Given the description of an element on the screen output the (x, y) to click on. 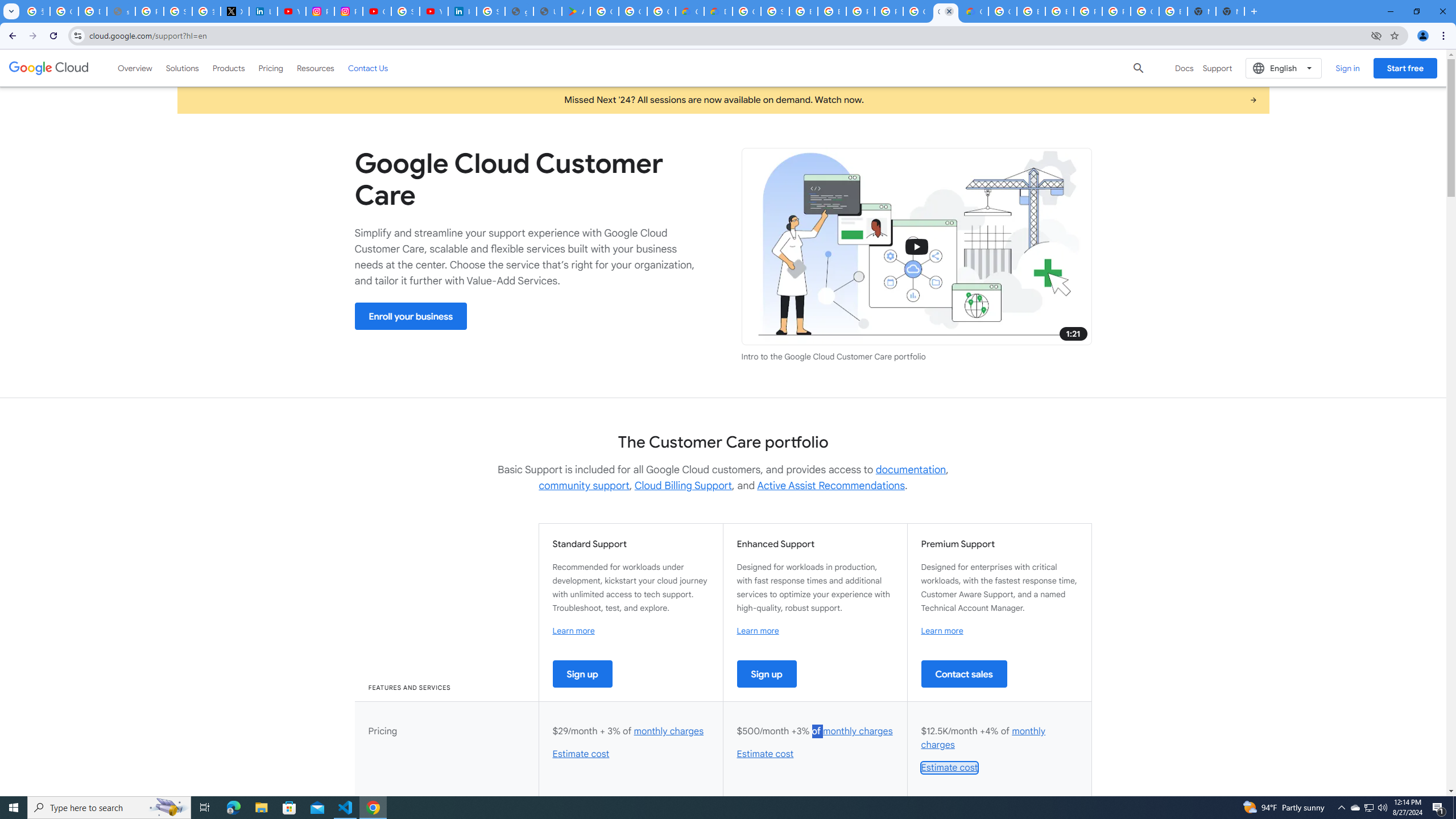
New Tab (1230, 11)
Google Cloud Platform (1002, 11)
Browse Chrome as a guest - Computer - Google Chrome Help (1058, 11)
community support (583, 485)
Privacy Help Center - Policies Help (148, 11)
google_privacy_policy_en.pdf (518, 11)
Browse Chrome as a guest - Computer - Google Chrome Help (831, 11)
X (234, 11)
